Given the description of an element on the screen output the (x, y) to click on. 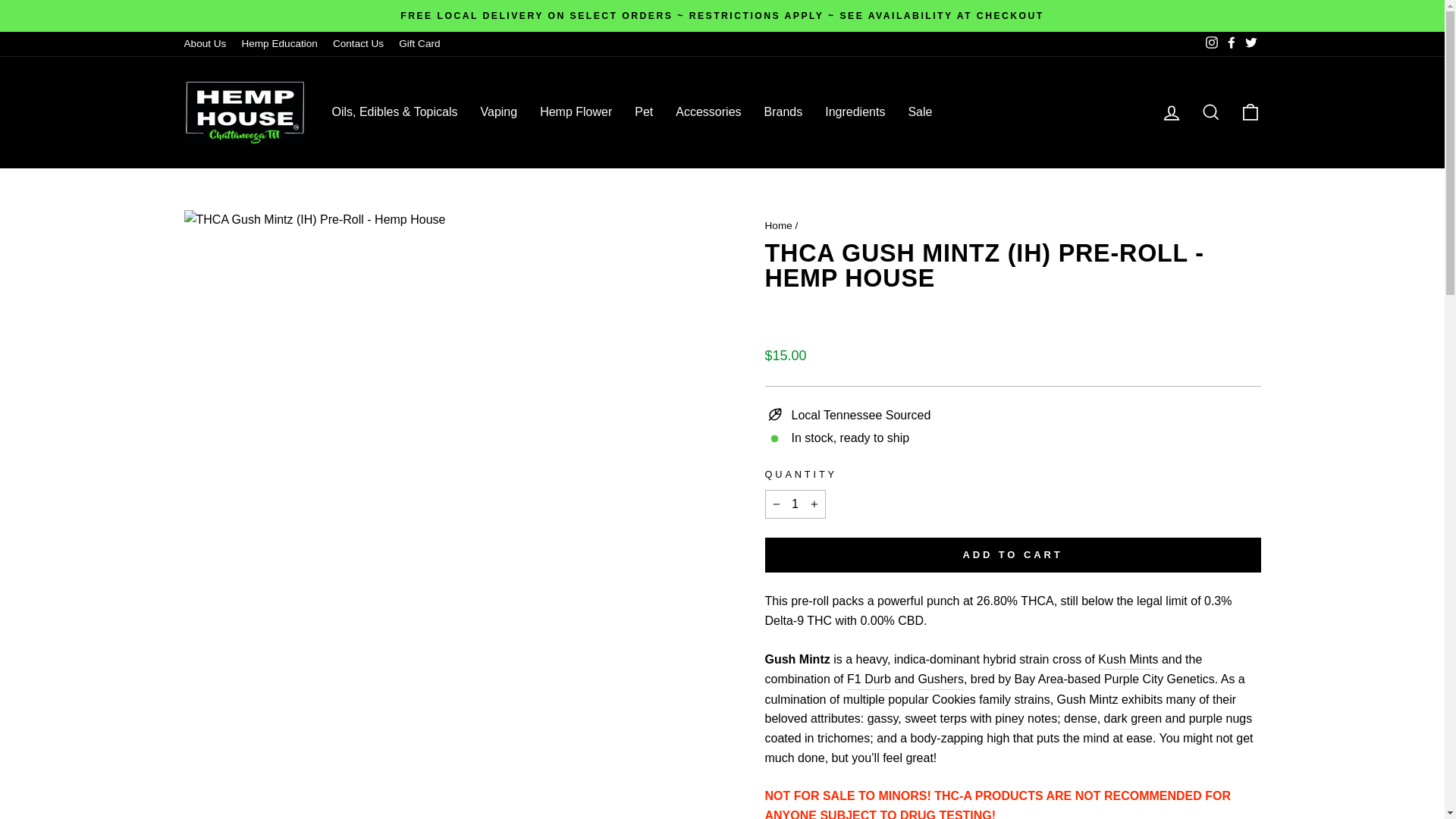
1 (794, 503)
Back to the frontpage (778, 225)
